Given the description of an element on the screen output the (x, y) to click on. 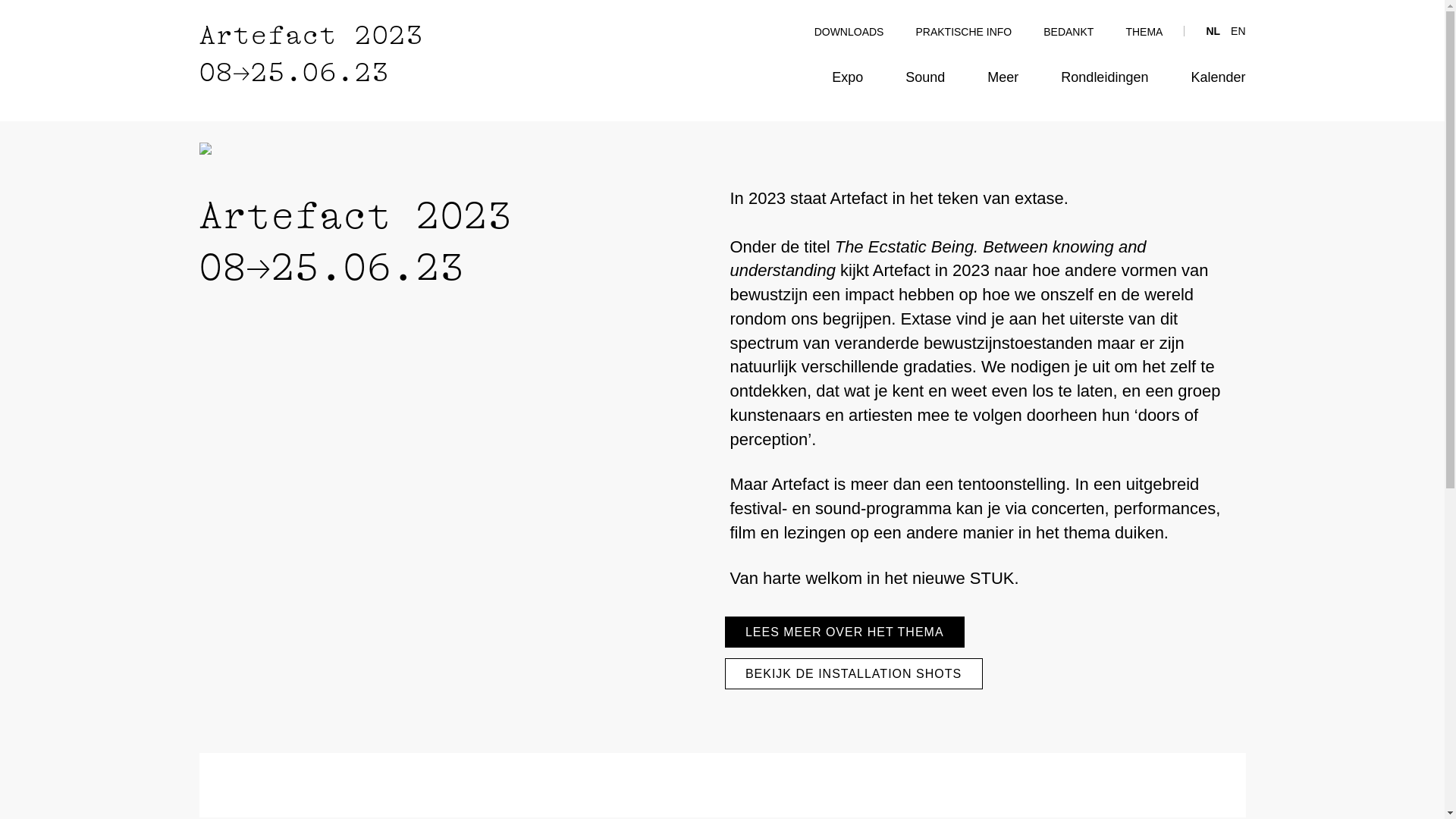
BEKIJK DE INSTALLATION SHOTS Element type: text (853, 673)
THEMA Element type: text (1143, 31)
EN Element type: text (1237, 30)
BEDANKT Element type: text (1068, 31)
NL Element type: text (1212, 30)
Kalender Element type: text (1217, 77)
Expo Element type: text (846, 77)
DOWNLOADS Element type: text (849, 31)
PRAKTISCHE INFO Element type: text (963, 31)
Meer Element type: text (1002, 77)
LEES MEER OVER HET THEMA Element type: text (844, 631)
Sound Element type: text (924, 77)
Rondleidingen Element type: text (1104, 77)
